Given the description of an element on the screen output the (x, y) to click on. 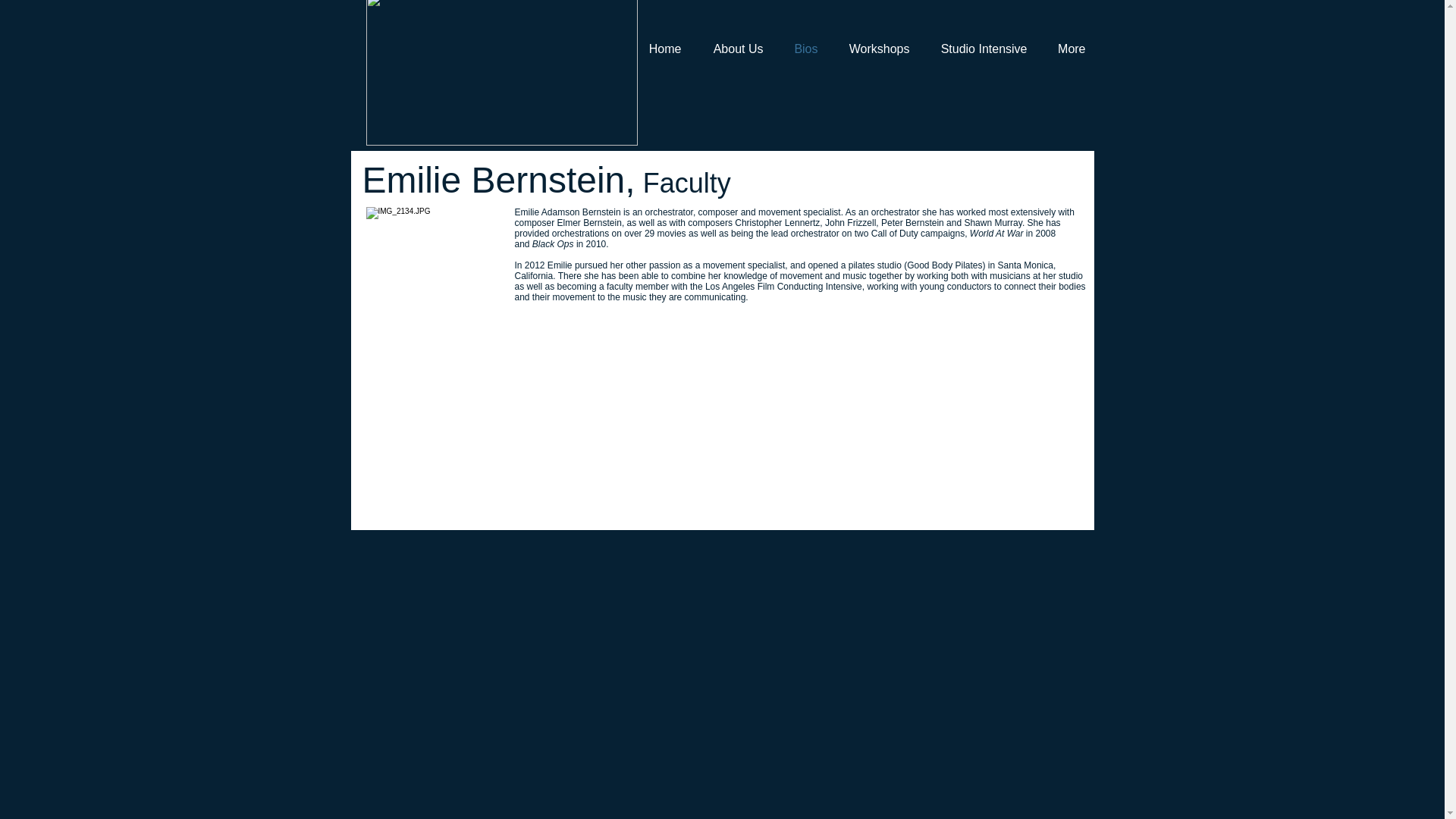
Home (664, 48)
Workshops (878, 48)
Studio Intensive (983, 48)
About Us (736, 48)
lafci-logo-w-bkg.png (501, 72)
Bios (804, 48)
